Given the description of an element on the screen output the (x, y) to click on. 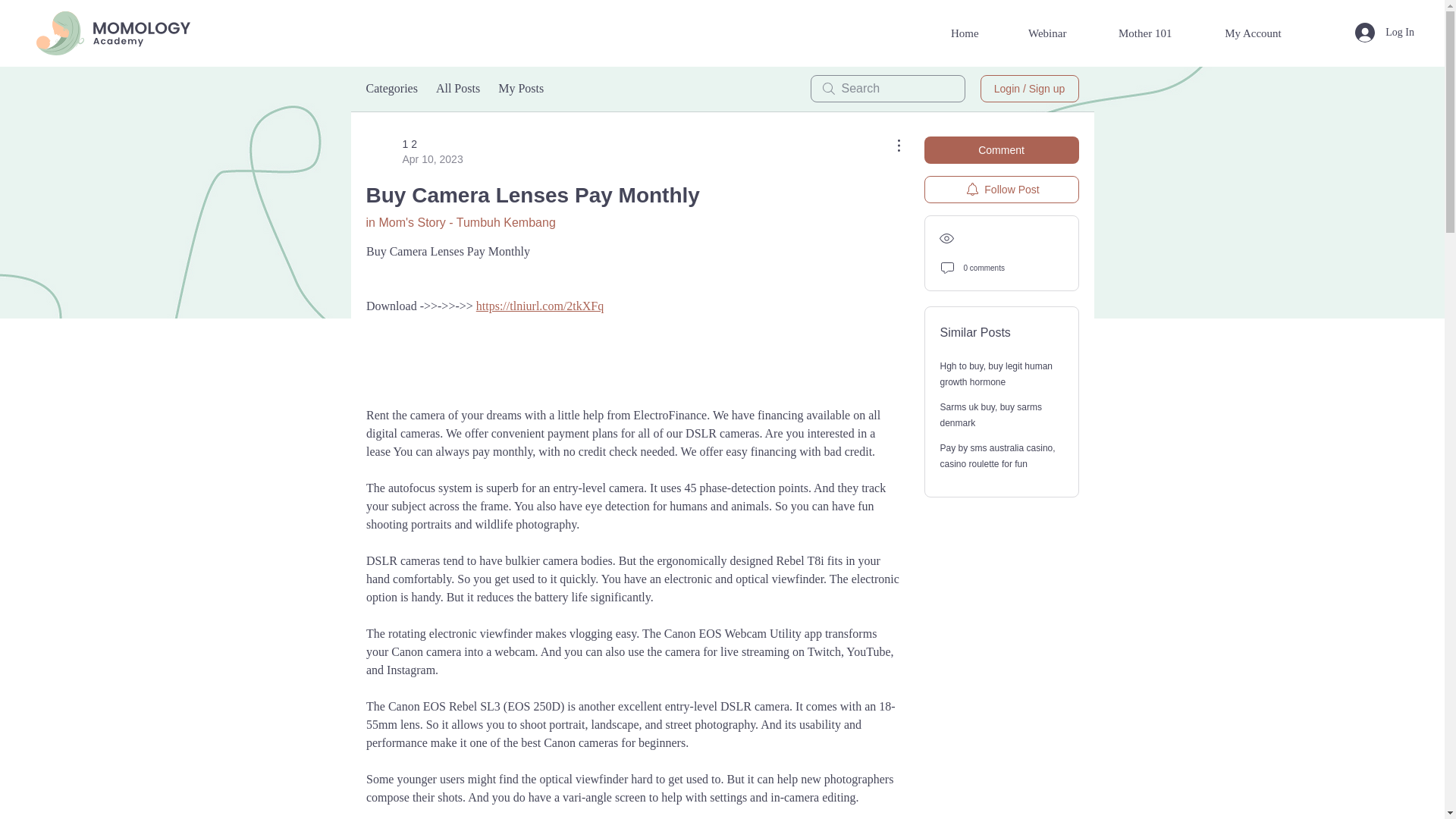
Follow Post (1000, 189)
Webinar (1061, 33)
Categories (390, 88)
All Posts (457, 88)
My Account (1253, 33)
Log In (1384, 32)
in Mom's Story - Tumbuh Kembang (459, 222)
My Posts (520, 88)
Sarms uk buy, buy sarms denmark (991, 415)
Pay by sms australia casino, casino roulette for fun (997, 456)
